Given the description of an element on the screen output the (x, y) to click on. 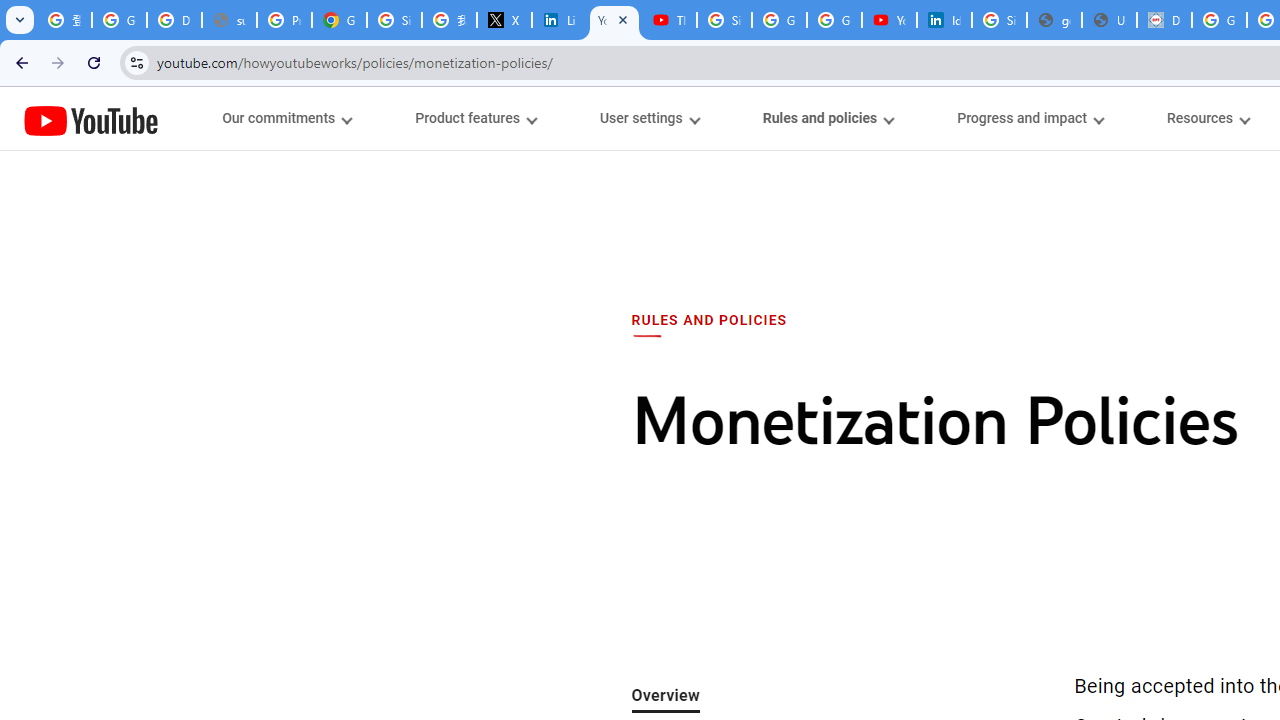
User settings menupopup (648, 118)
Product features menupopup (475, 118)
User Details (1108, 20)
Privacy Help Center - Policies Help (284, 20)
Progress and impact menupopup (1030, 118)
How YouTube Works (91, 118)
Rules and policies menupopup (827, 118)
